Given the description of an element on the screen output the (x, y) to click on. 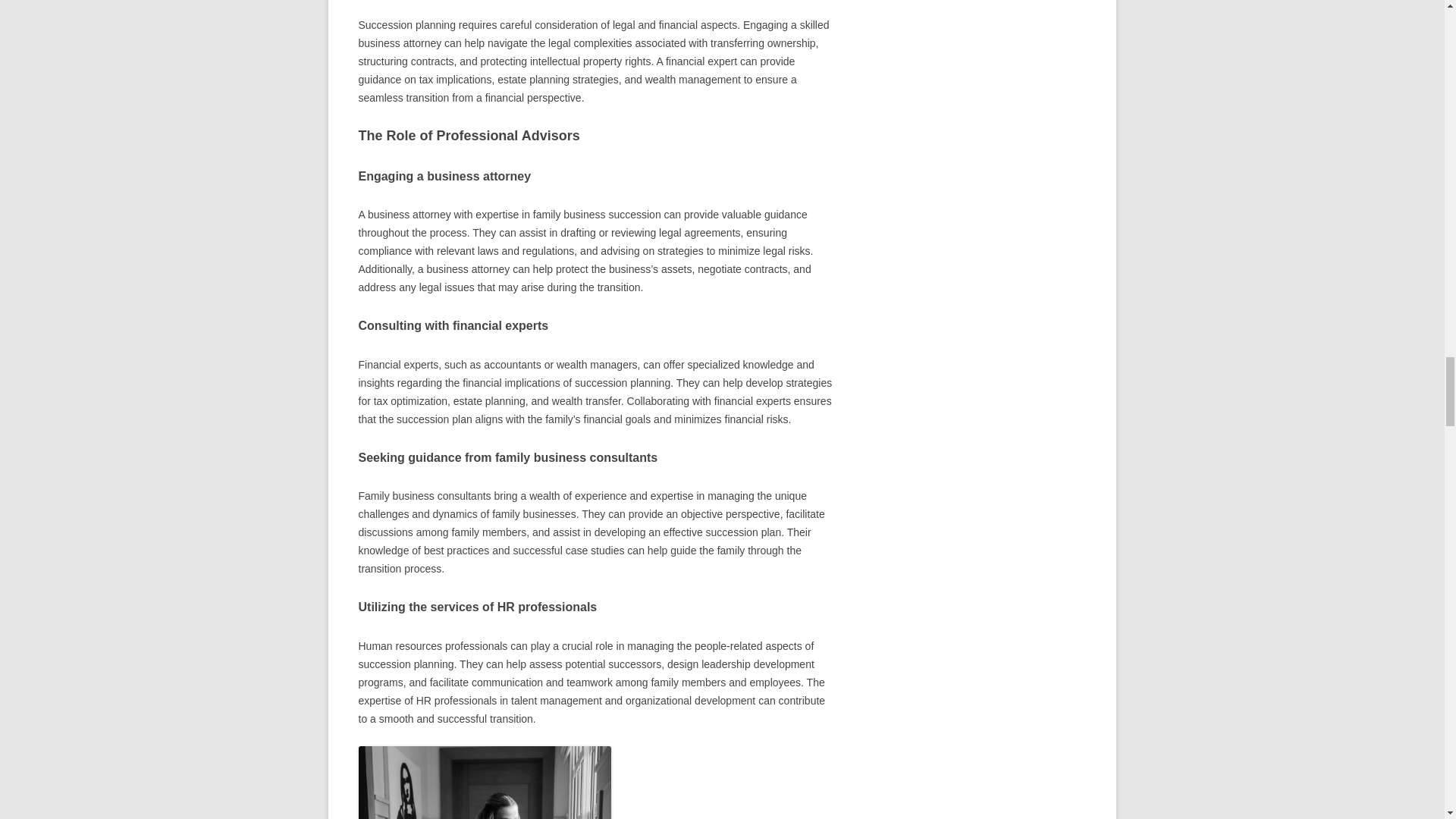
Family Business Succession Passing The Torch (484, 782)
